Given the description of an element on the screen output the (x, y) to click on. 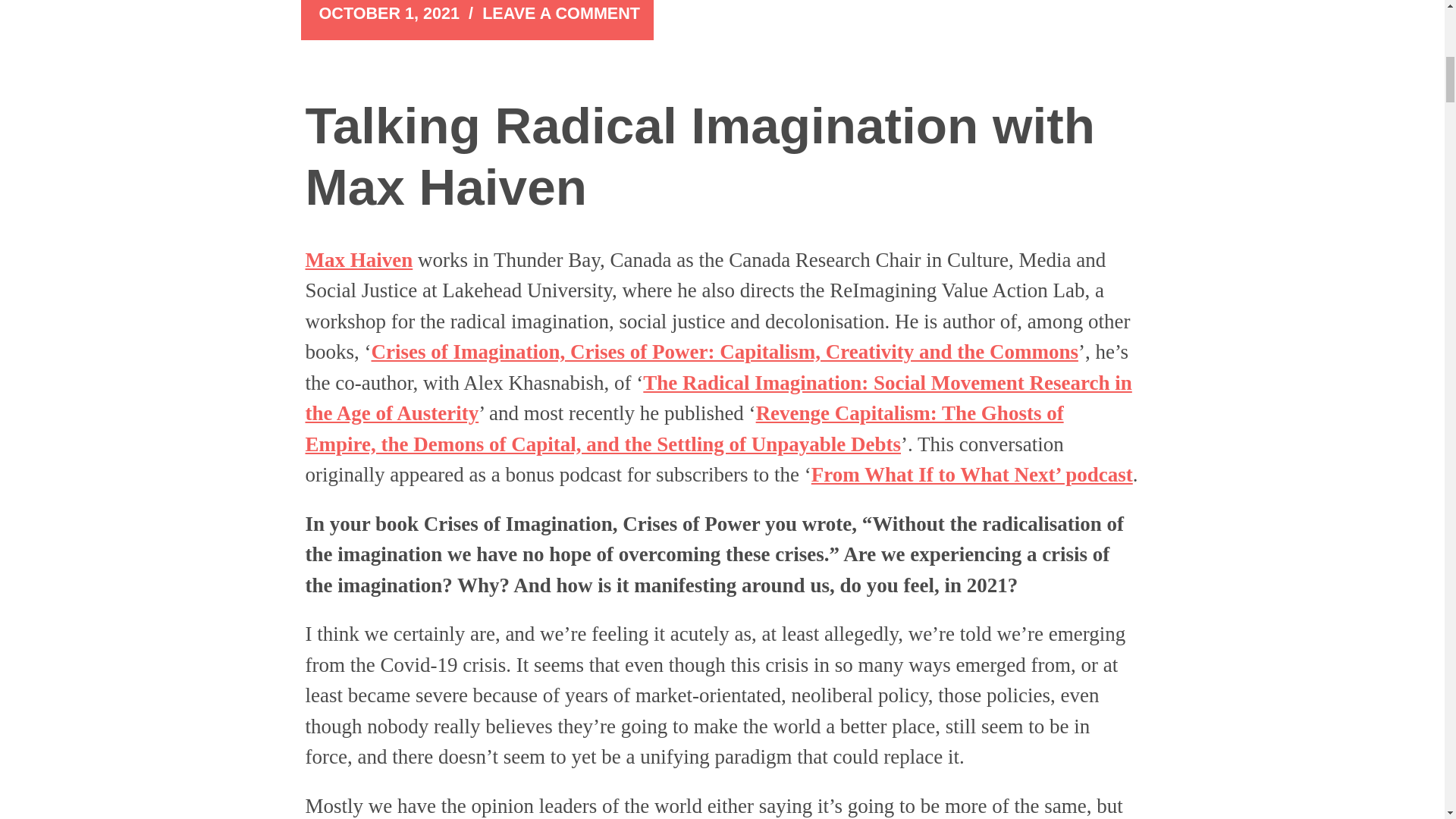
Max Haiven (358, 259)
LEAVE A COMMENT (560, 13)
